Given the description of an element on the screen output the (x, y) to click on. 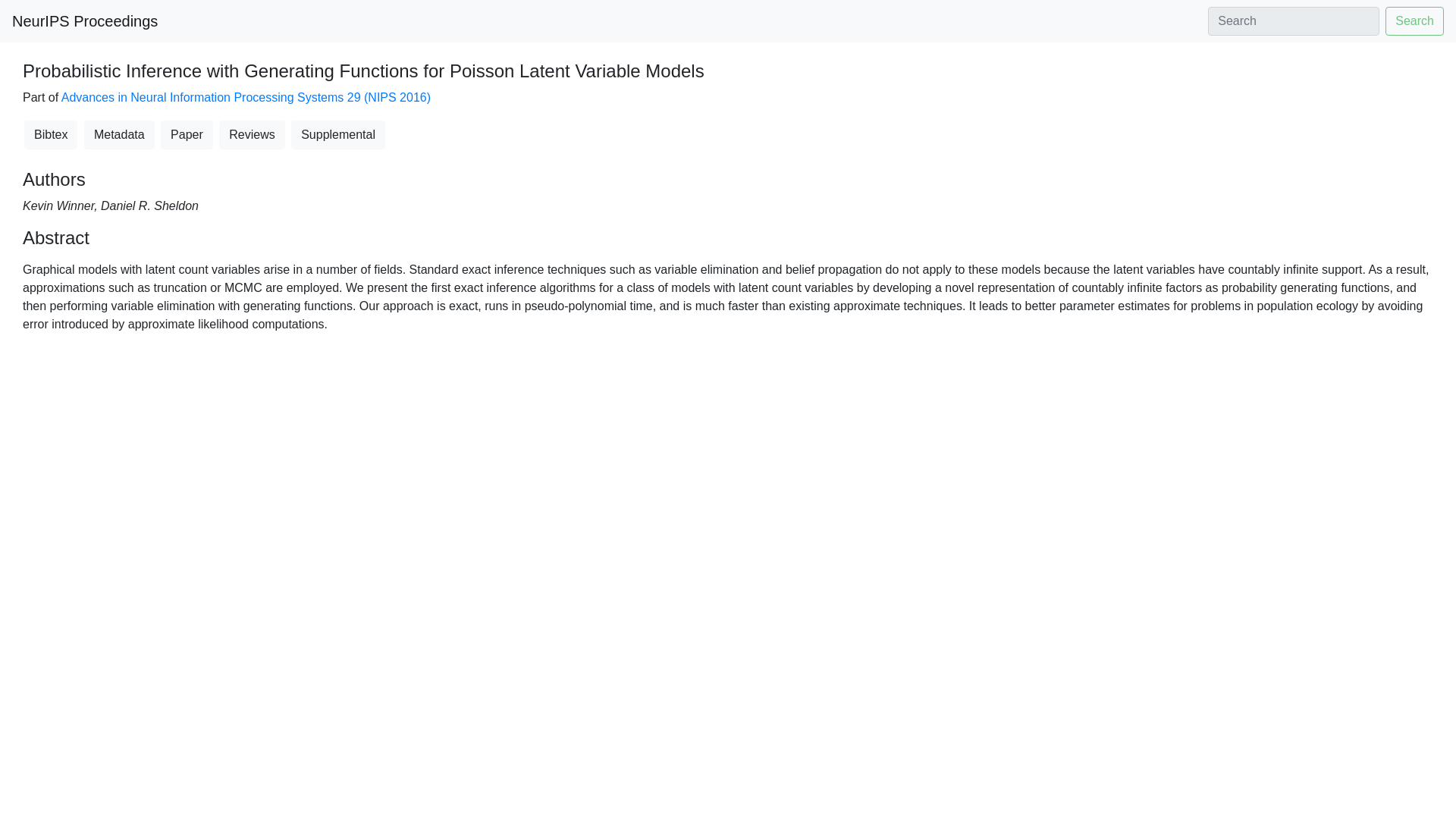
Supplemental (338, 134)
NeurIPS Proceedings (84, 20)
Paper (186, 134)
Search (1415, 21)
Reviews (251, 134)
Metadata (119, 134)
Bibtex (50, 134)
